Given the description of an element on the screen output the (x, y) to click on. 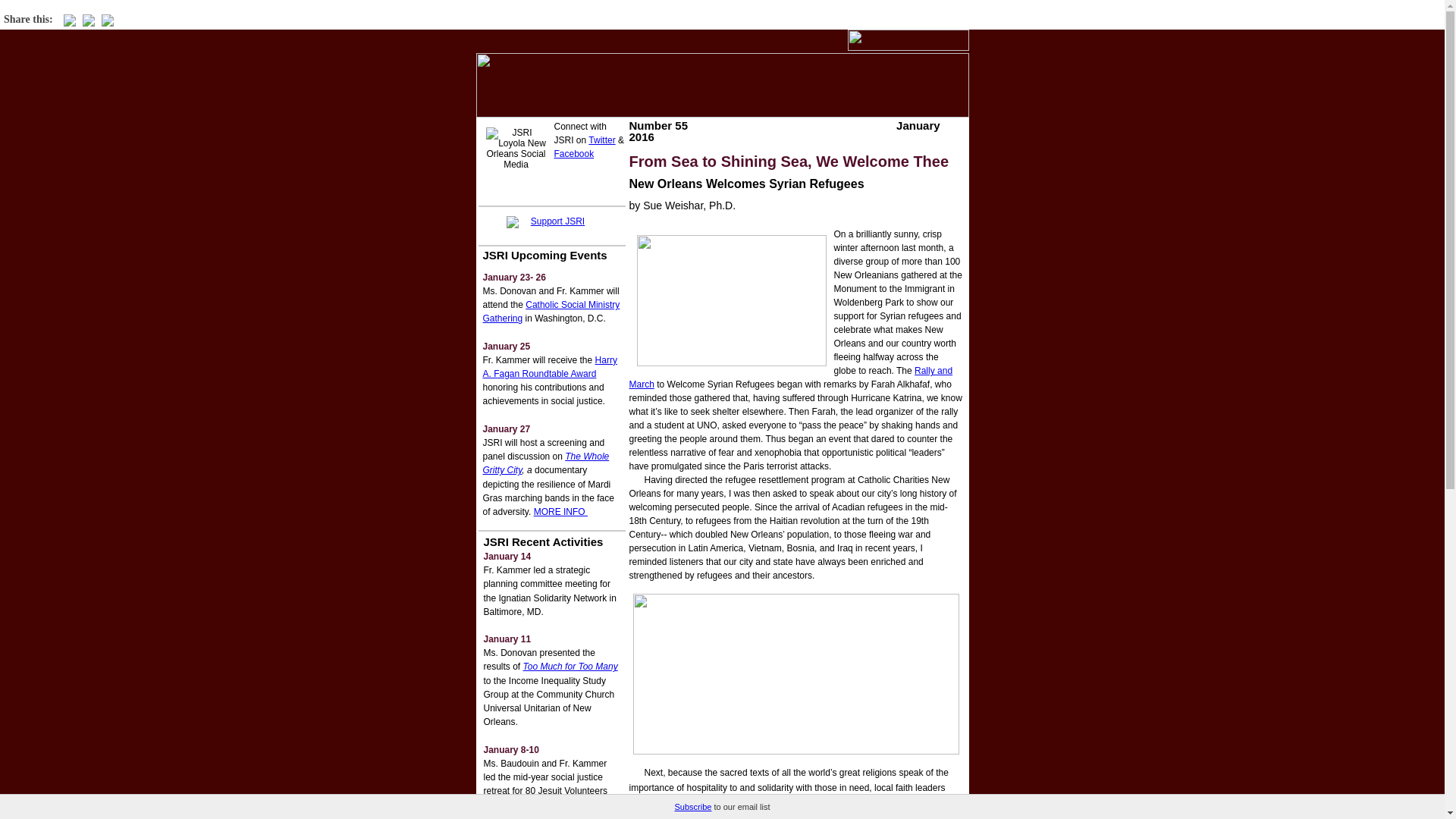
Facebook (573, 153)
Harry A. Fagan Roundtable Award (548, 366)
Catholic Social Ministry Gathering (550, 311)
Rally and March (790, 377)
The Whole Gritty City (544, 463)
MORE INFO  (561, 511)
Twitter (601, 140)
Too Much for Too Many (569, 665)
Subscribe (693, 806)
